Given the description of an element on the screen output the (x, y) to click on. 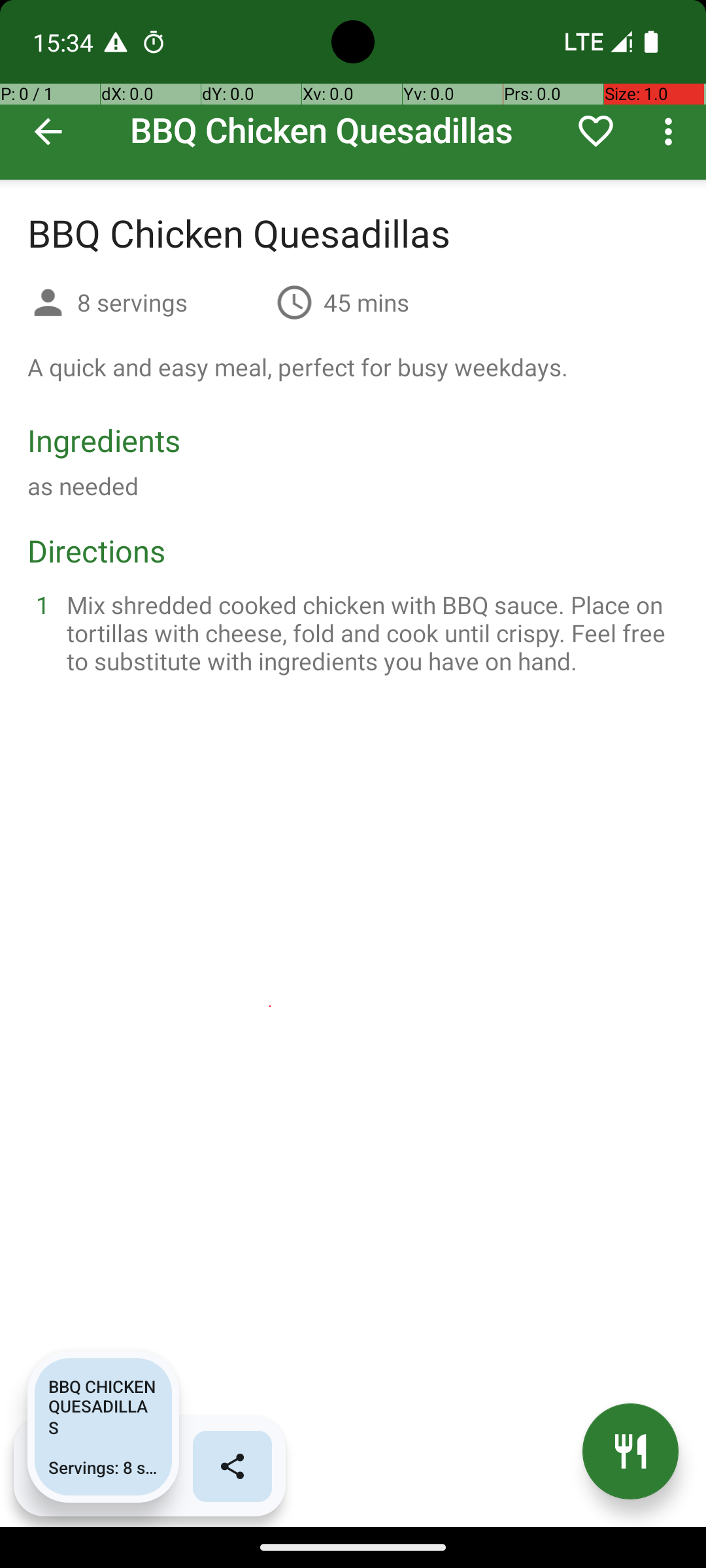
Mix shredded cooked chicken with BBQ sauce. Place on tortillas with cheese, fold and cook until crispy. Feel free to substitute with ingredients you have on hand. Element type: android.widget.TextView (368, 632)
BBQ CHICKEN QUESADILLAS

Servings: 8 servings
Time: 45 mins

A quick and easy meal, perfect for busy weekdays.

Ingredients:
- as needed

Directions:
1. Mix shredded cooked chicken with BBQ sauce. Place on tortillas with cheese, fold and cook until crispy. Feel free to substitute with ingredients you have on hand.

Shared with https://play.google.com/store/apps/details?id=com.flauschcode.broccoli Element type: android.widget.TextView (102, 1426)
